Given the description of an element on the screen output the (x, y) to click on. 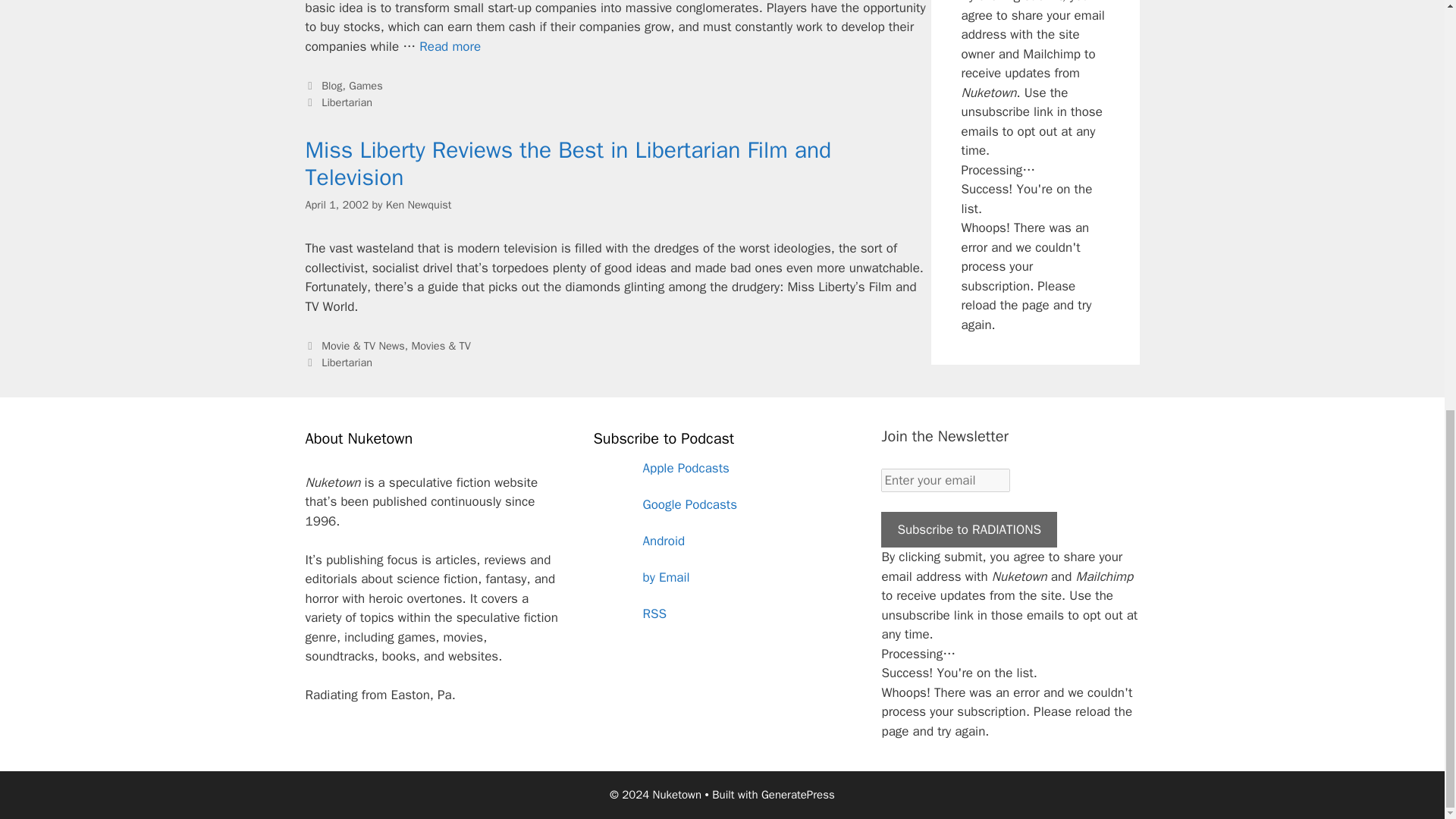
Subscribe by Email (721, 577)
Subscribe on Apple Podcasts (721, 468)
Subscribe via RSS (721, 614)
View all posts by Ken Newquist (418, 204)
Acquiring Acquire (449, 46)
Subscribe on Android (721, 541)
Enter your email (945, 480)
Subscribe on Google Podcasts (721, 504)
